Given the description of an element on the screen output the (x, y) to click on. 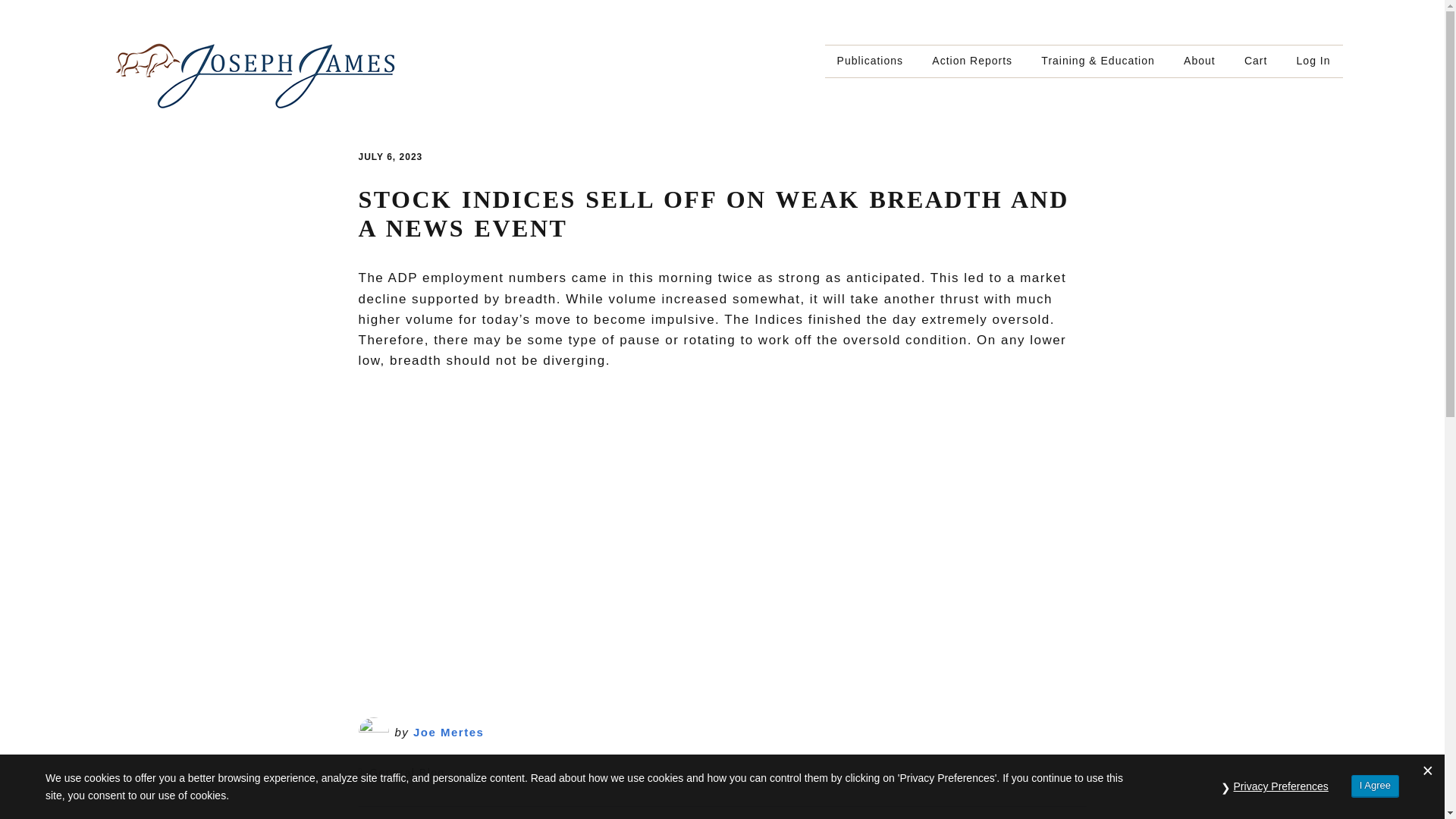
Cart (1255, 60)
Log In (1313, 60)
Action Reports (972, 60)
vimeo-player (600, 523)
General Blog (407, 772)
About (1199, 60)
Privacy Preferences (1280, 786)
Publications (870, 60)
I Agree (1375, 785)
Joe Mertes (448, 731)
